Given the description of an element on the screen output the (x, y) to click on. 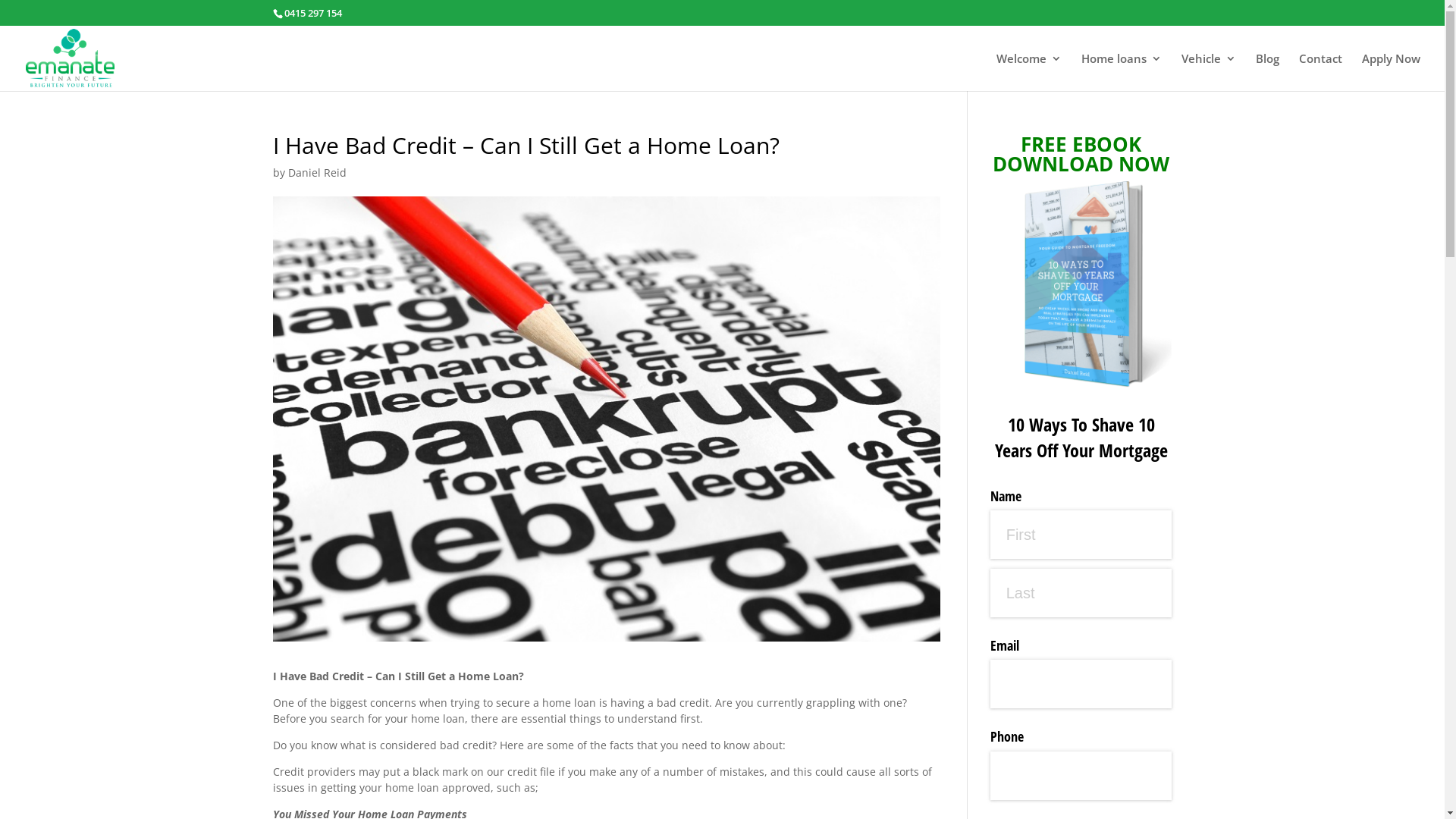
0415 297 154 Element type: text (312, 12)
Last Element type: hover (1081, 592)
Vehicle Element type: text (1208, 72)
Welcome Element type: text (1028, 72)
Contact Element type: text (1320, 72)
Home loans Element type: text (1121, 72)
Daniel Reid Element type: text (317, 172)
Apply Now Element type: text (1390, 72)
Blog Element type: text (1267, 72)
First Element type: hover (1081, 534)
